Given the description of an element on the screen output the (x, y) to click on. 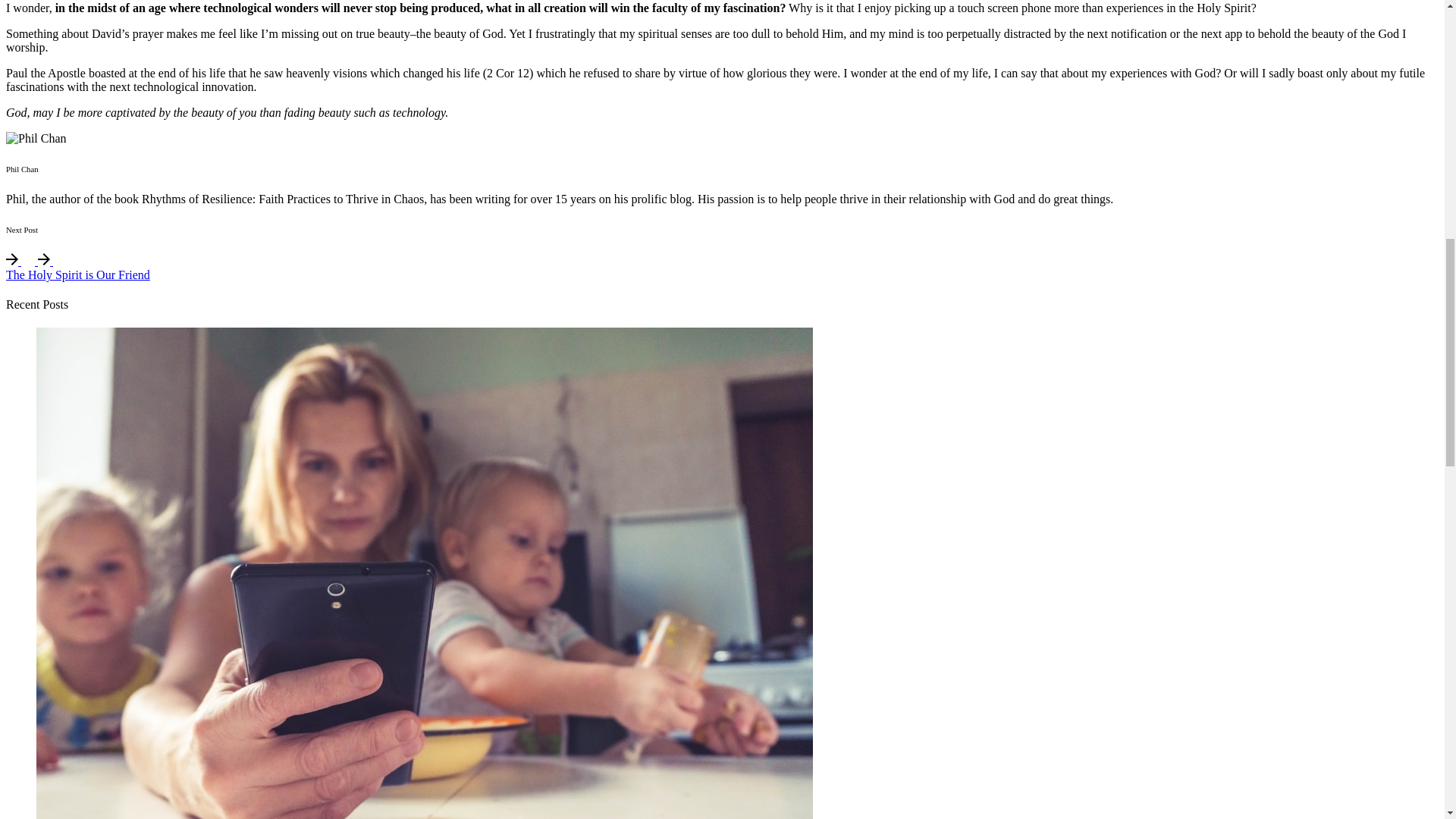
The Holy Spirit is Our Friend (77, 274)
